Given the description of an element on the screen output the (x, y) to click on. 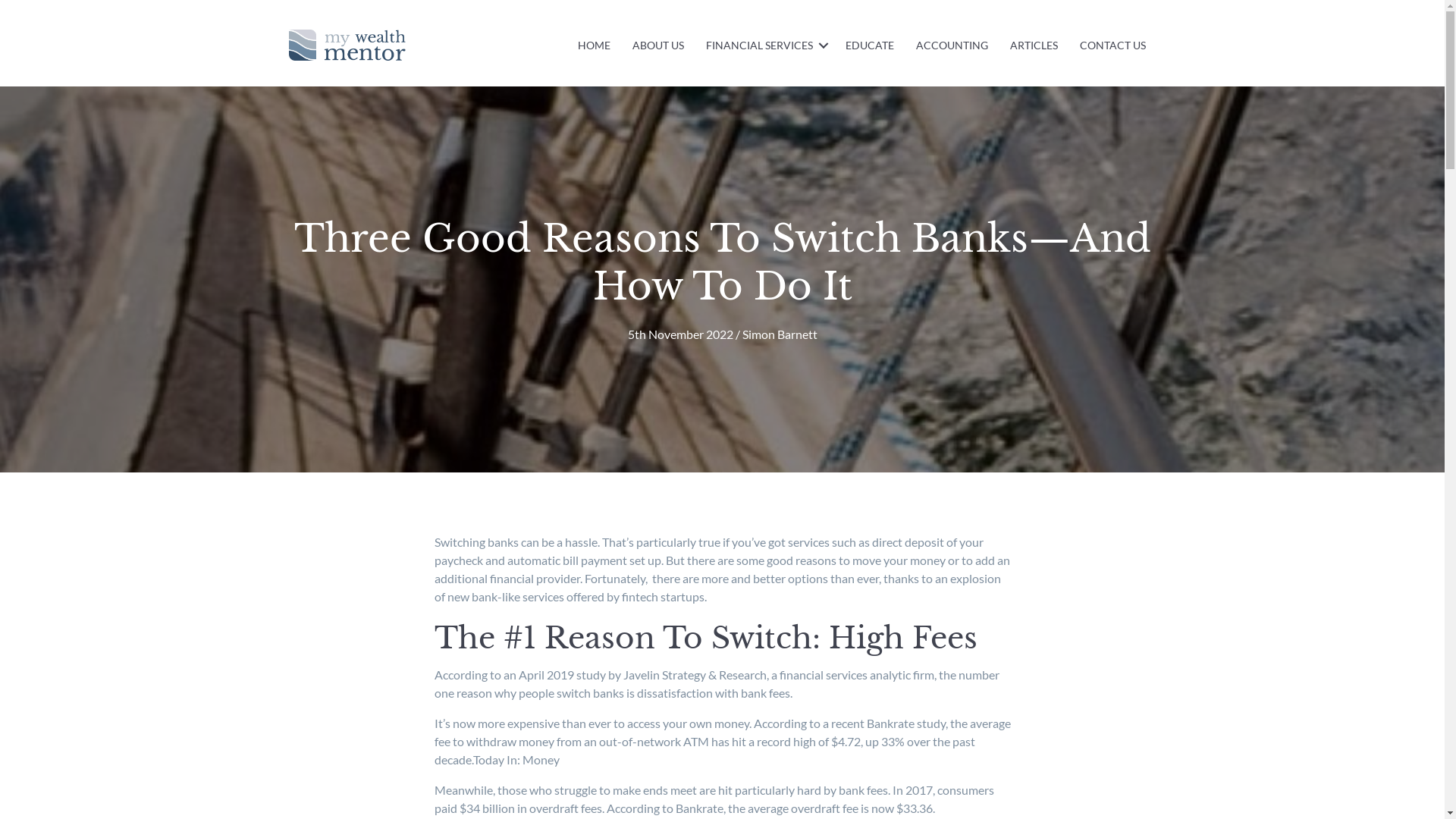
HOME Element type: text (594, 44)
ACCOUNTING Element type: text (951, 44)
Money Element type: text (539, 759)
ABOUT US Element type: text (657, 44)
EDUCATE Element type: text (869, 44)
Simon Barnett Element type: text (778, 333)
ARTICLES Element type: text (1033, 44)
My Wealth Mentor Logo Element type: hover (346, 44)
FINANCIAL SERVICES Element type: text (764, 44)
consumers paid $34 billion in overdraft fees Element type: text (713, 798)
CONTACT US Element type: text (1112, 44)
